Given the description of an element on the screen output the (x, y) to click on. 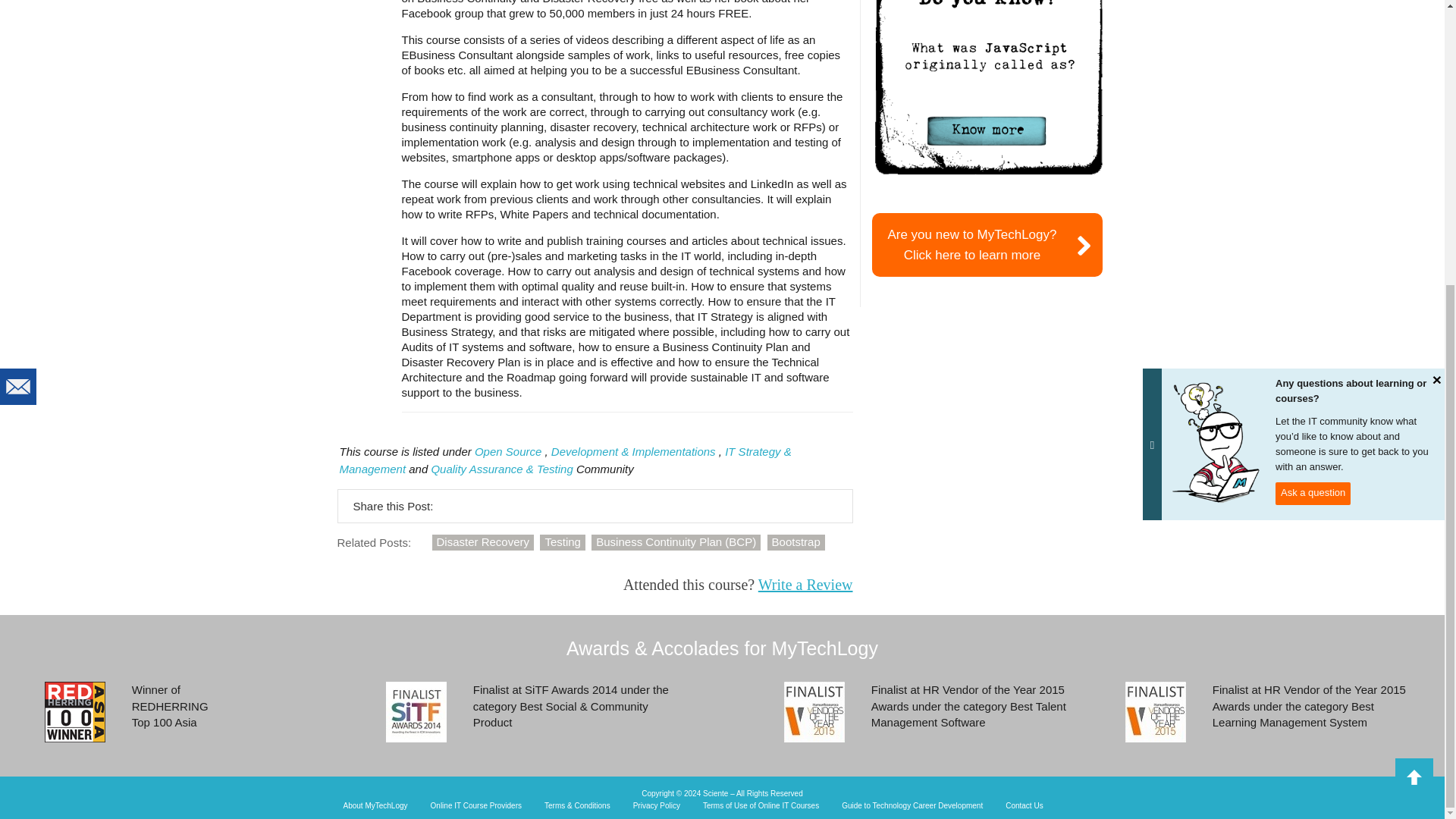
Write a Review (805, 584)
About MyTechLogy (374, 805)
Bootstrap (796, 542)
Do you know what was JavaScript originally called as? (988, 87)
Disaster Recovery (483, 542)
Online IT Course Providers (475, 805)
Terms of Use of Online IT Courses (760, 805)
Privacy Policy (656, 805)
Winner of REDHERRING Top 100 Asia (74, 711)
Guide to Technology Career Development (911, 805)
